Given the description of an element on the screen output the (x, y) to click on. 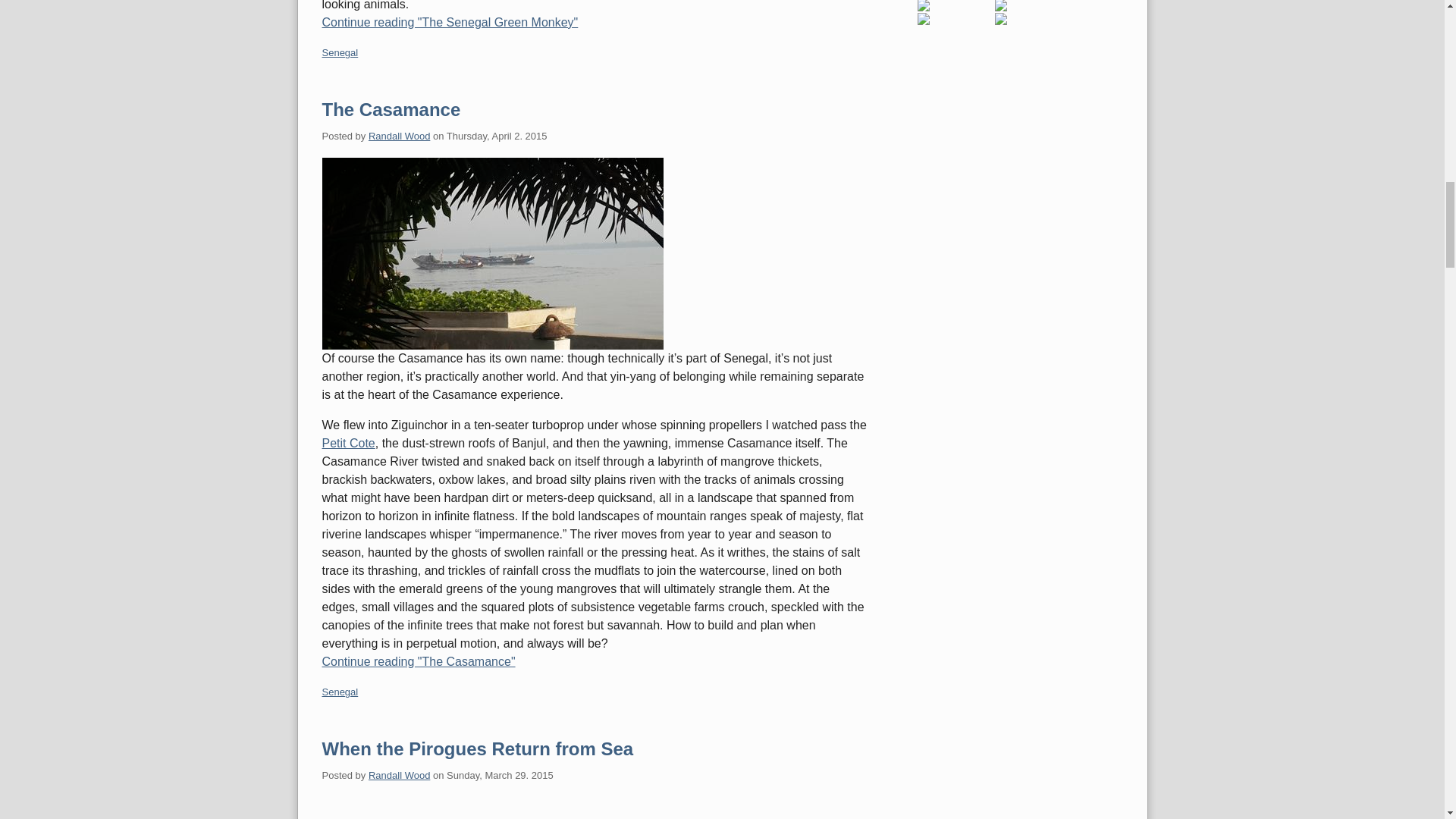
Petit Cote (347, 442)
Randall Wood (398, 135)
Senegal (339, 691)
Senegal (339, 52)
Randall Wood (398, 775)
Continue reading "The Casamance" (594, 661)
The Casamance (390, 109)
Continue reading "The Senegal Green Monkey" (594, 22)
When the Pirogues Return from Sea (477, 748)
